Given the description of an element on the screen output the (x, y) to click on. 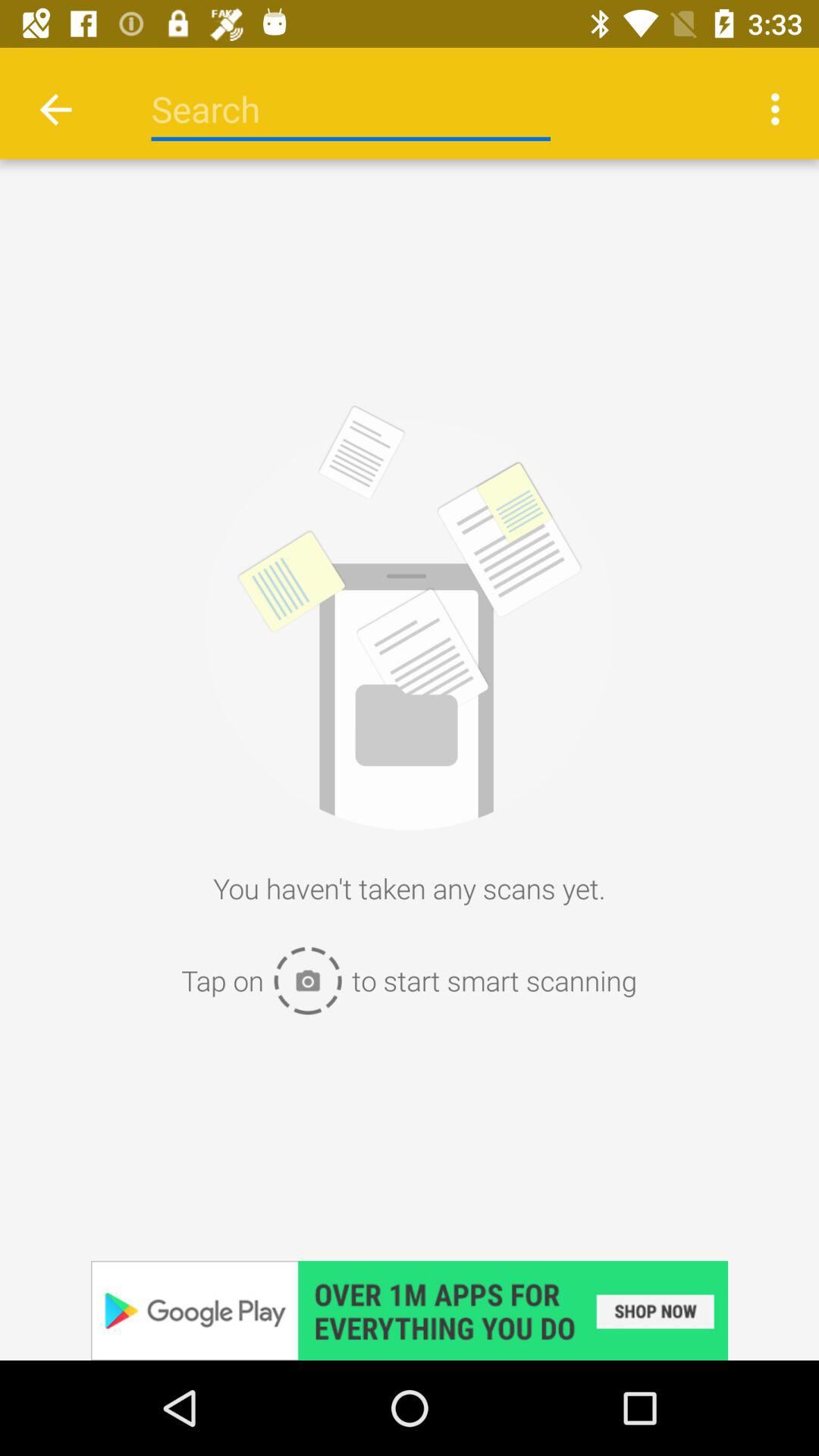
search file (350, 109)
